Given the description of an element on the screen output the (x, y) to click on. 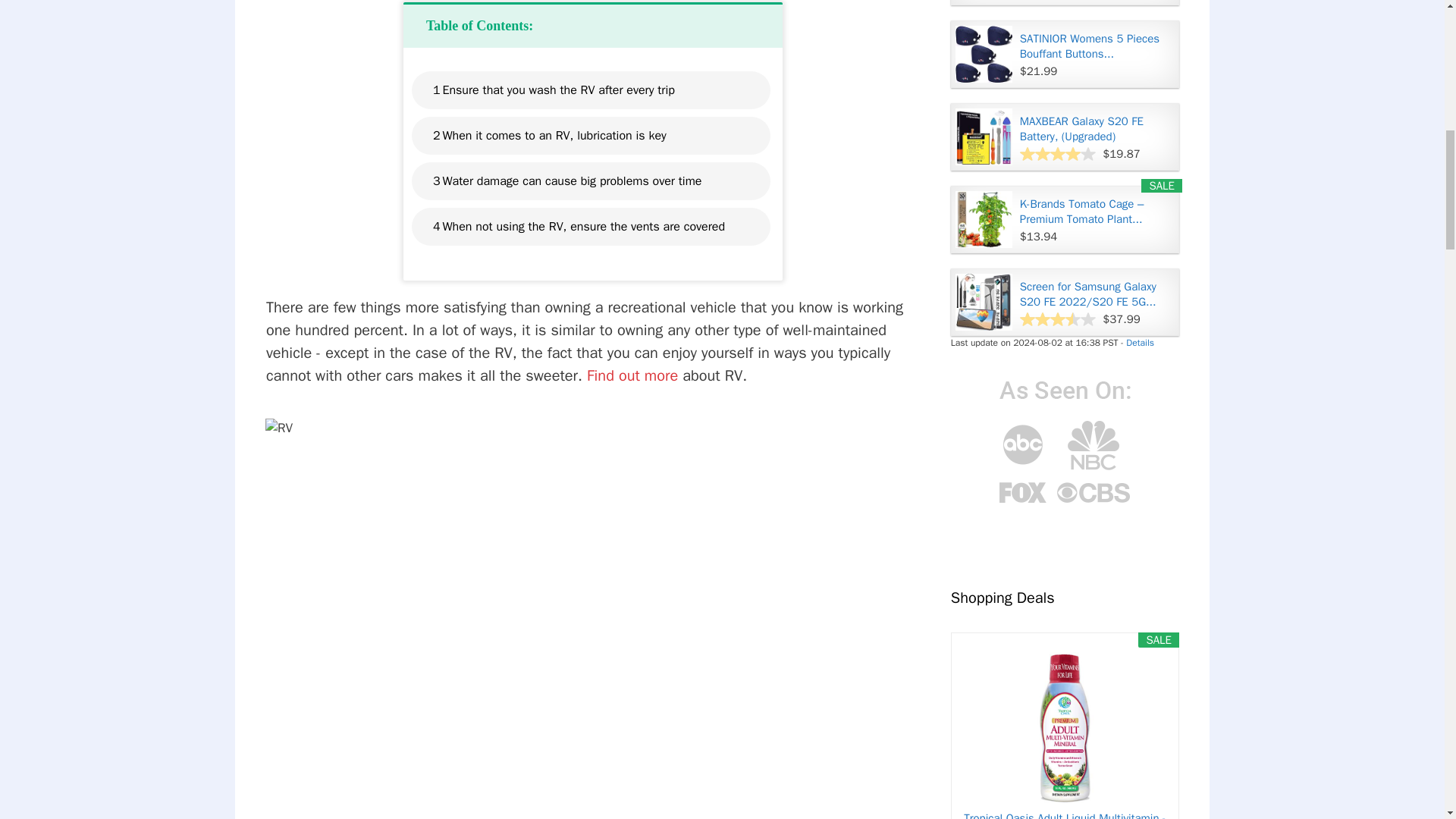
When it comes to an RV, lubrication is key (553, 135)
Water damage can cause big problems over time (571, 180)
When not using the RV, ensure the vents are covered (583, 226)
Ensure that you wash the RV after every trip (558, 90)
